Given the description of an element on the screen output the (x, y) to click on. 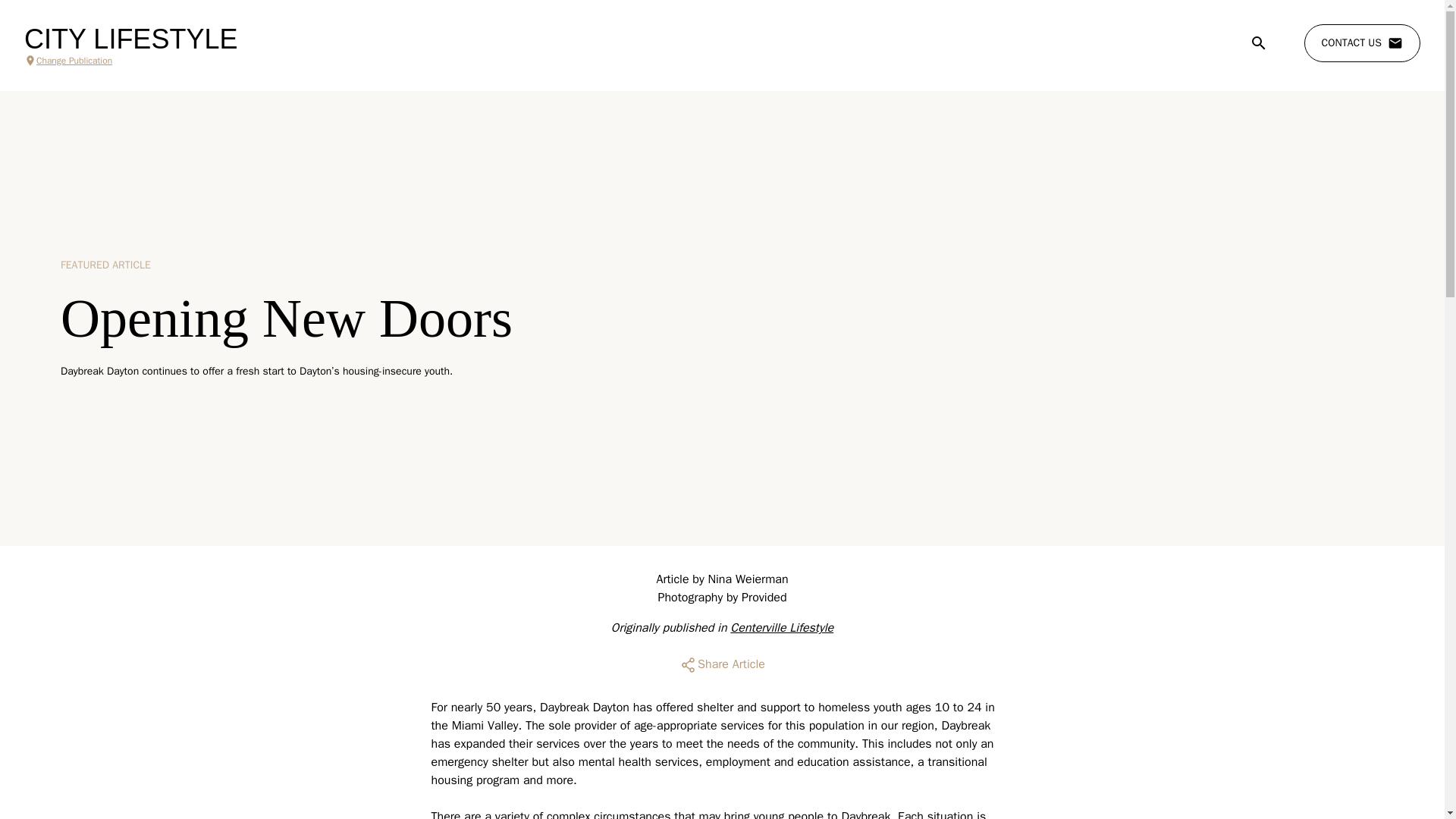
Share Article (722, 664)
Change Publication (130, 60)
CONTACT US (1362, 43)
CITY LIFESTYLE (130, 39)
Centerville Lifestyle (781, 627)
